Given the description of an element on the screen output the (x, y) to click on. 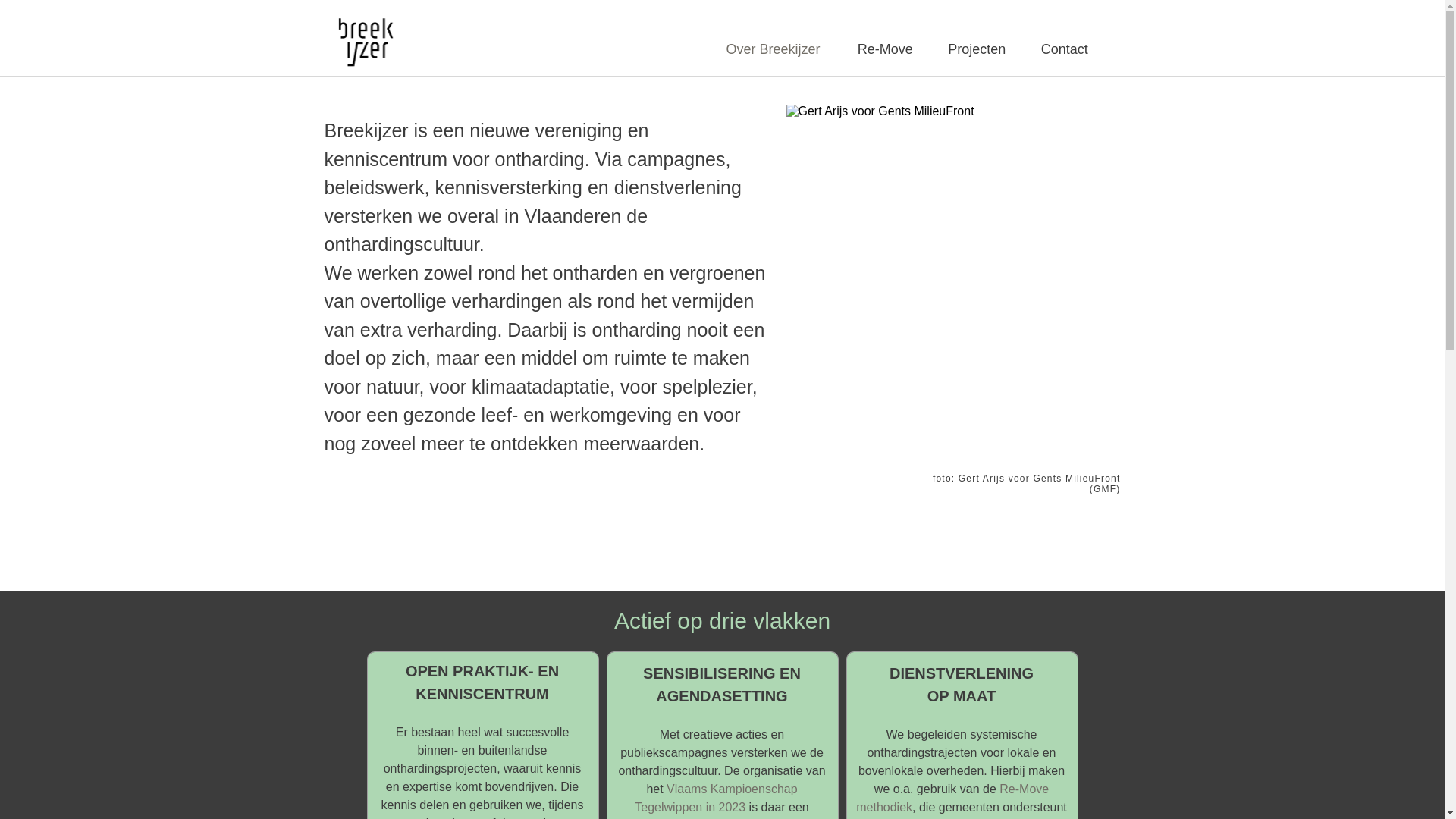
Projecten Element type: text (979, 48)
Re-Move methodiek Element type: text (952, 797)
Re-Move Element type: text (887, 48)
Gert Arijs voor Gents MilieuFront Element type: hover (952, 287)
Over Breekijzer Element type: text (776, 48)
Contact Element type: text (1066, 48)
Vlaams Kampioenschap Tegelwippen in 2023 Element type: text (715, 797)
